Given the description of an element on the screen output the (x, y) to click on. 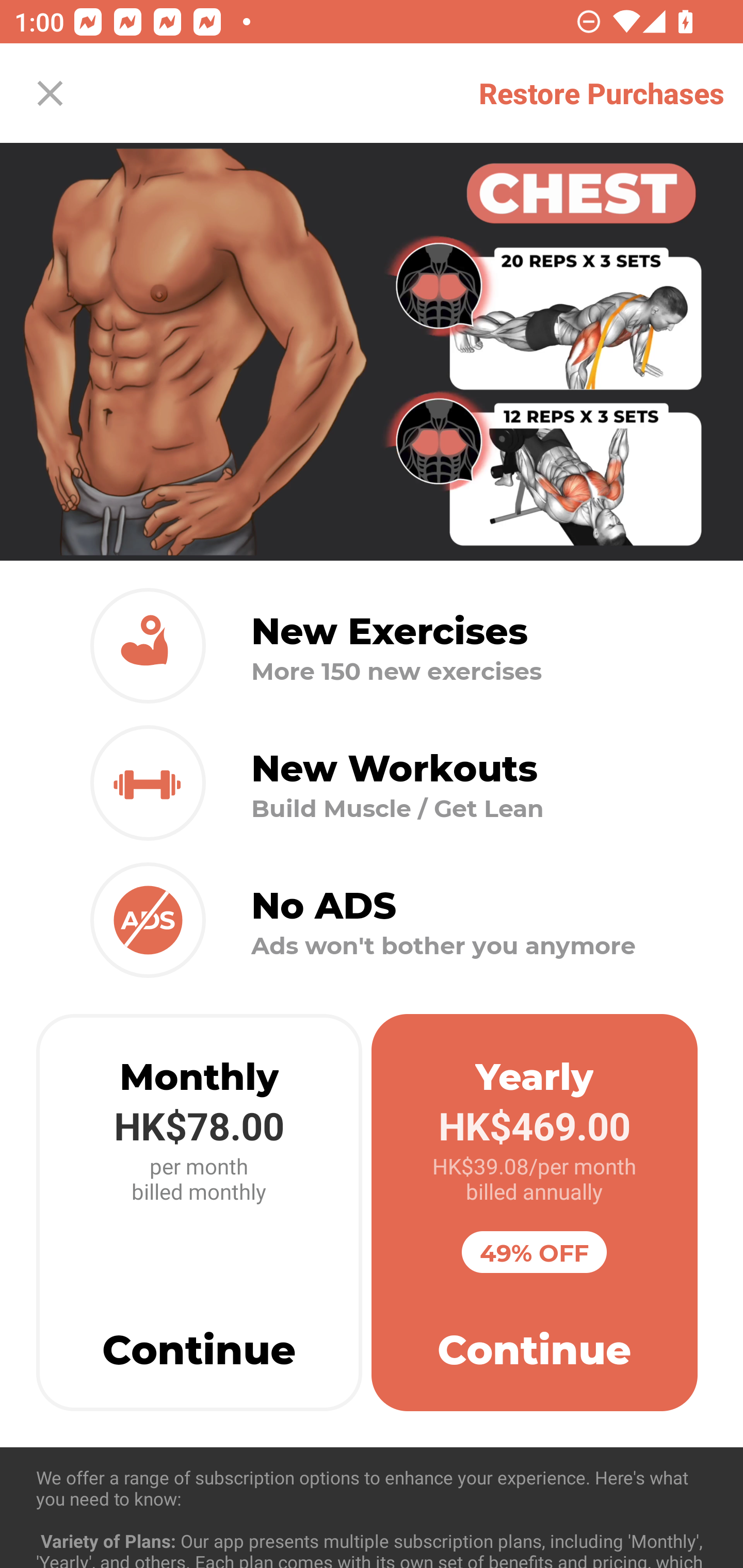
Restore Purchases (601, 92)
Monthly HK$78.00 per month
billed monthly Continue (199, 1212)
